Given the description of an element on the screen output the (x, y) to click on. 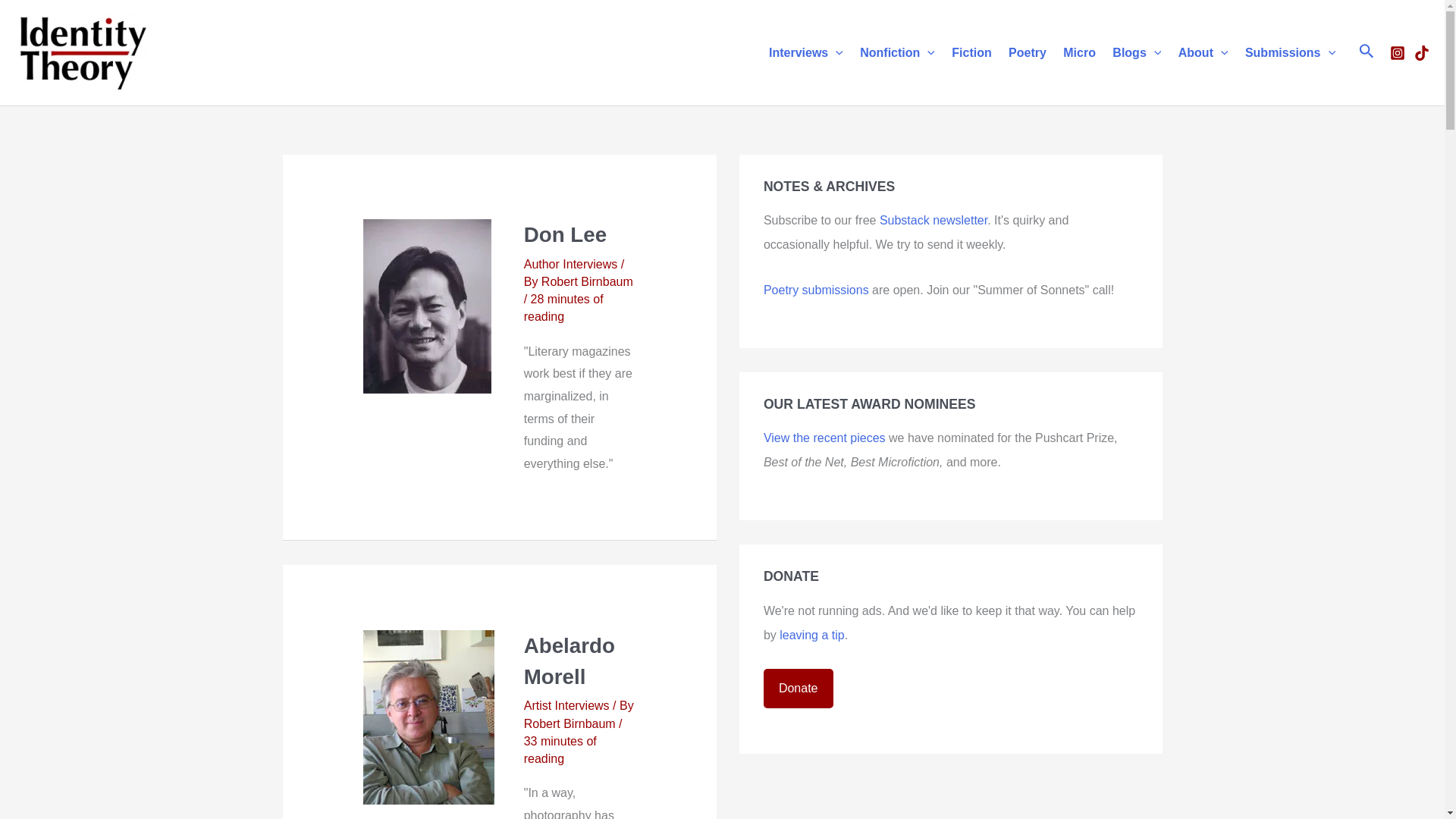
View all posts by Robert Birnbaum (587, 281)
Submissions (1289, 51)
Blogs (1136, 51)
Nonfiction (897, 51)
View all posts by Robert Birnbaum (571, 723)
About (1203, 51)
Interviews (805, 51)
